Given the description of an element on the screen output the (x, y) to click on. 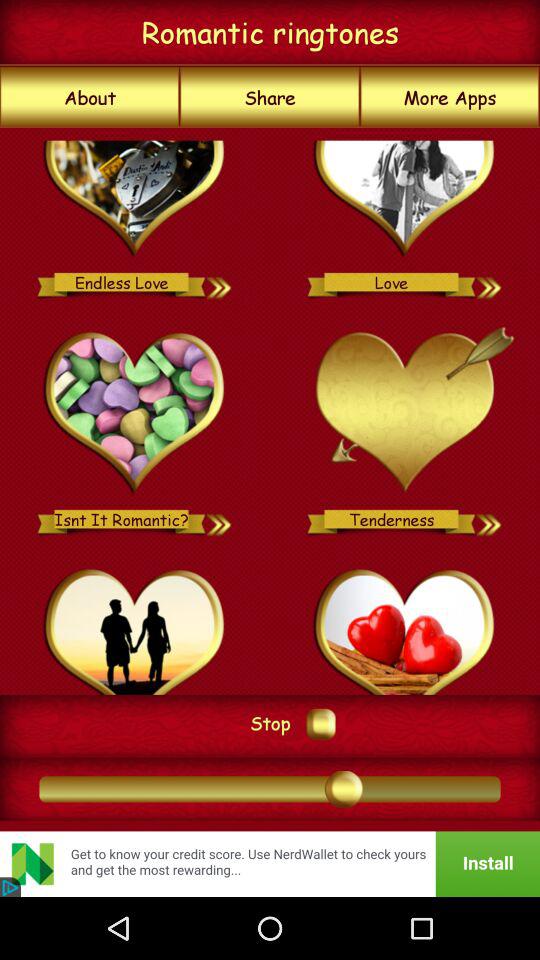
tap the icon to the right of about icon (270, 97)
